Given the description of an element on the screen output the (x, y) to click on. 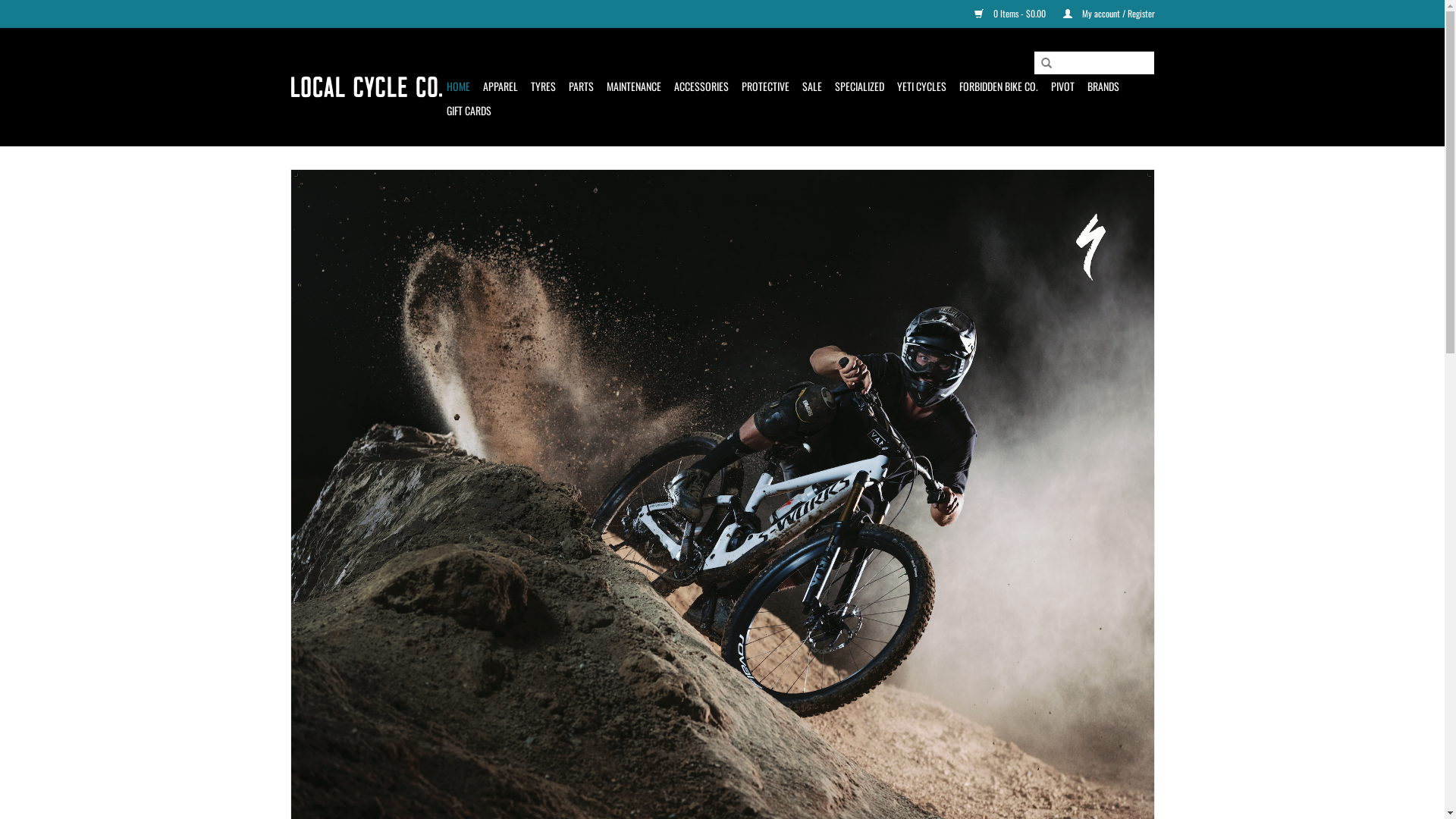
TYRES Element type: text (543, 86)
0 Items - $0.00 Element type: text (1002, 12)
PROTECTIVE Element type: text (765, 86)
ACCESSORIES Element type: text (700, 86)
Mountain Bike Store Wollongong Element type: hover (365, 86)
GIFT CARDS Element type: text (468, 110)
PIVOT Element type: text (1062, 86)
YETI CYCLES Element type: text (920, 86)
MAINTENANCE Element type: text (633, 86)
SALE Element type: text (811, 86)
APPAREL Element type: text (499, 86)
HOME Element type: text (457, 86)
FORBIDDEN BIKE CO. Element type: text (997, 86)
SPECIALIZED Element type: text (858, 86)
BRANDS Element type: text (1102, 86)
PARTS Element type: text (581, 86)
Search Element type: hover (1045, 63)
My account / Register Element type: text (1101, 12)
